Given the description of an element on the screen output the (x, y) to click on. 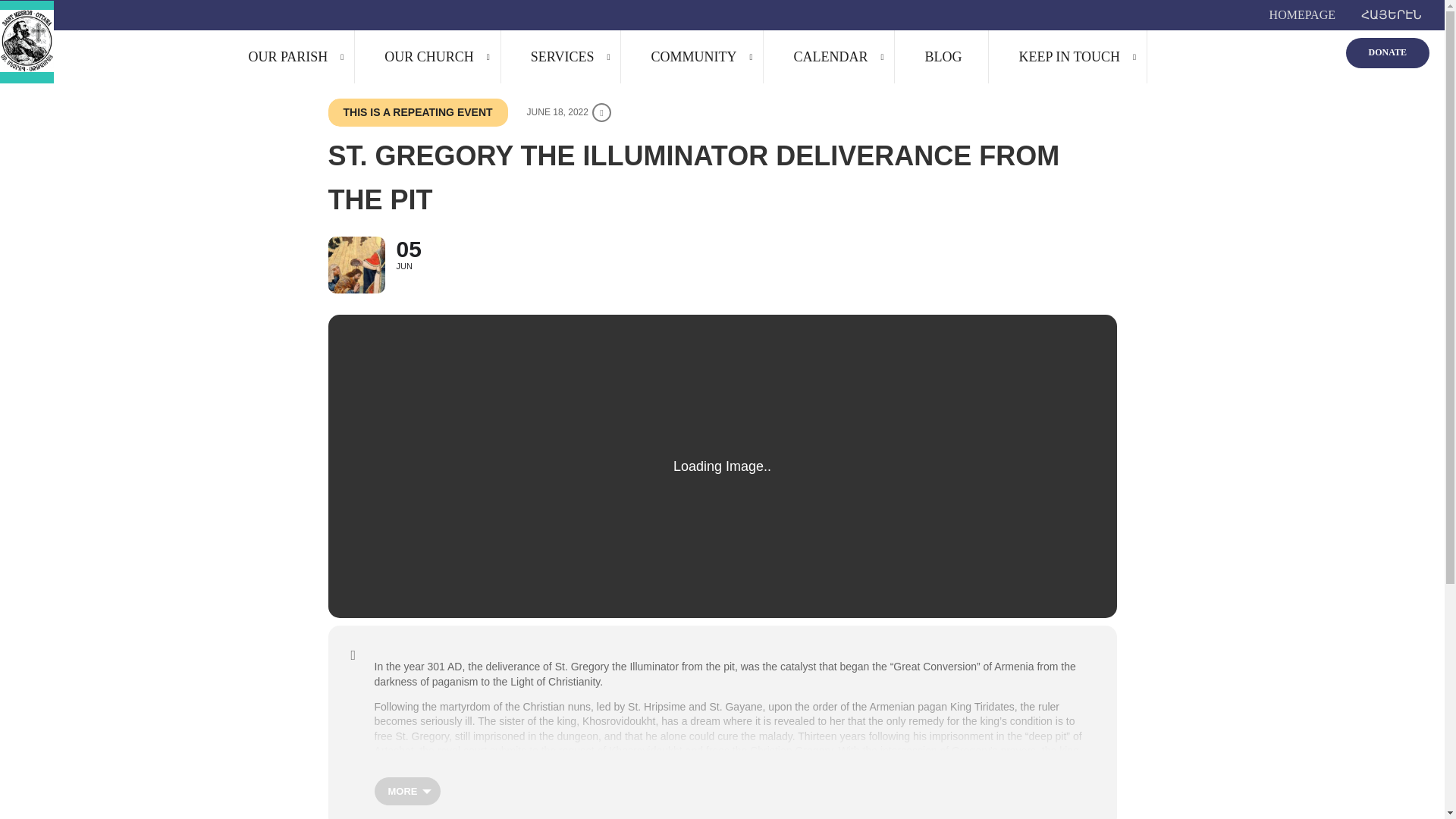
June 18, 2022 (566, 112)
OUR PARISH (287, 56)
HOMEPAGE (1302, 15)
